Given the description of an element on the screen output the (x, y) to click on. 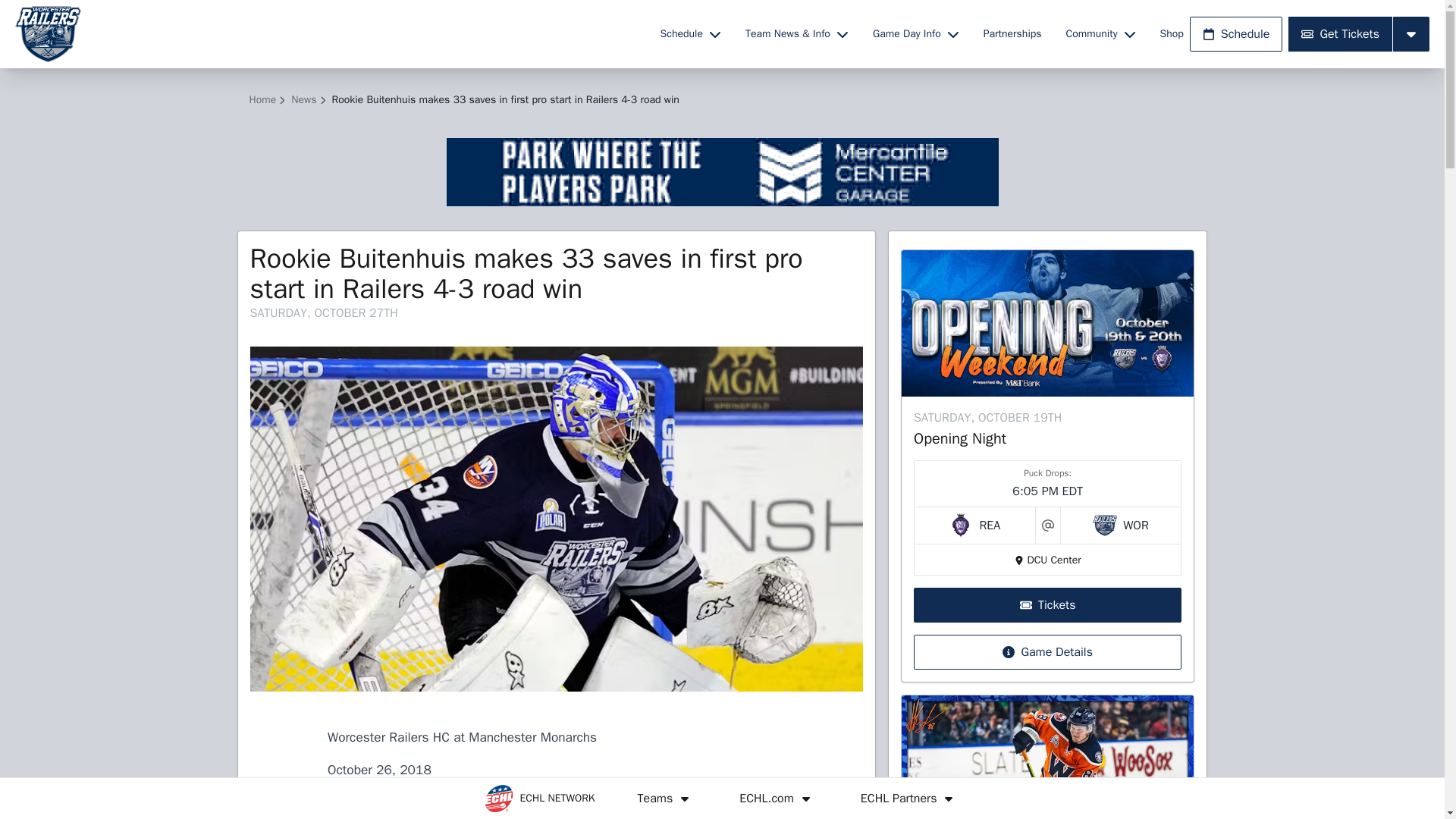
Shop (1171, 33)
Schedule (689, 33)
Schedule (1236, 33)
Partnerships (1012, 33)
Get Tickets (1339, 33)
Worcester Railers (328, 33)
Community (1100, 33)
Game Day Info (915, 33)
